Given the description of an element on the screen output the (x, y) to click on. 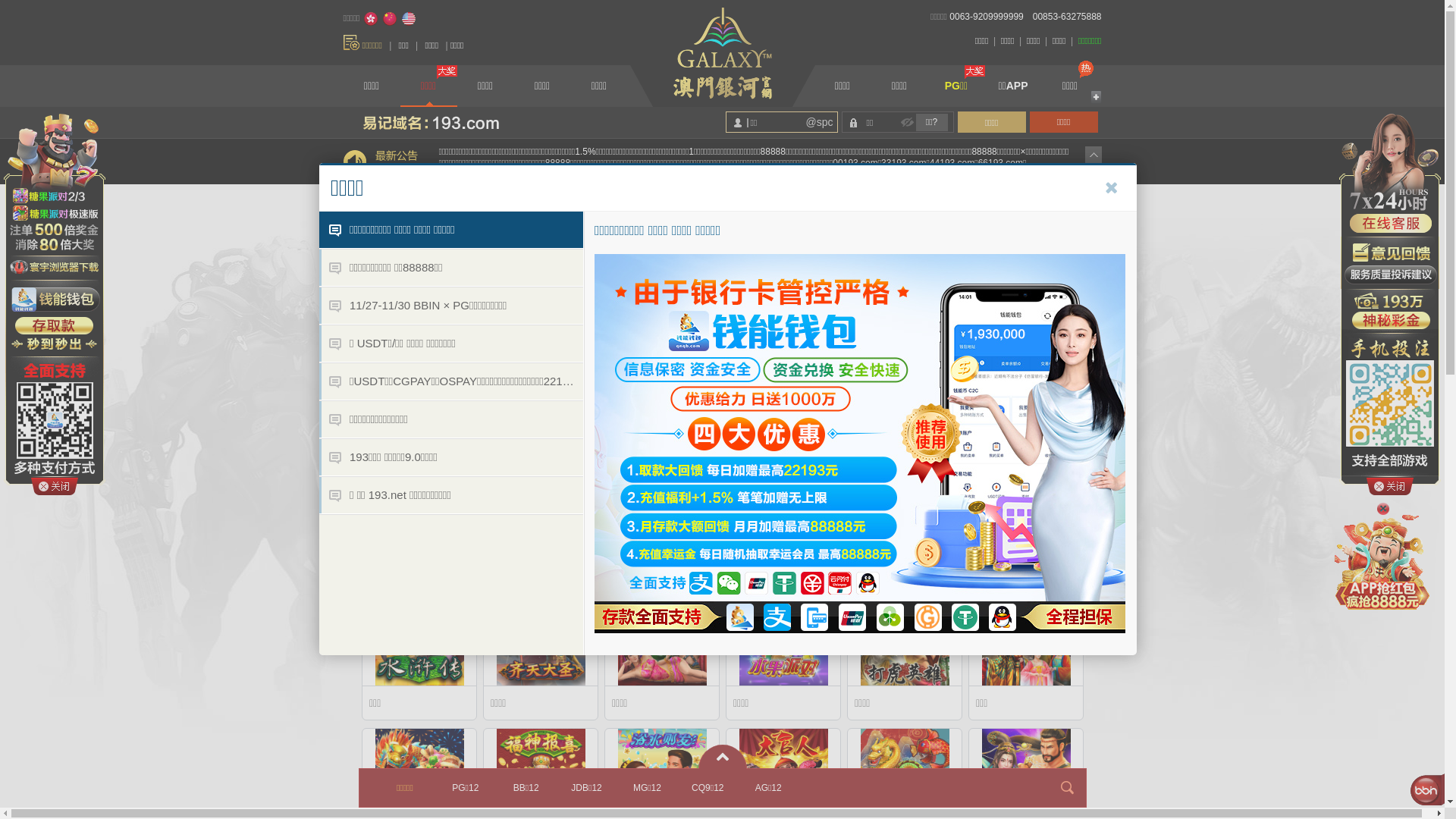
English Element type: hover (408, 18)
